Given the description of an element on the screen output the (x, y) to click on. 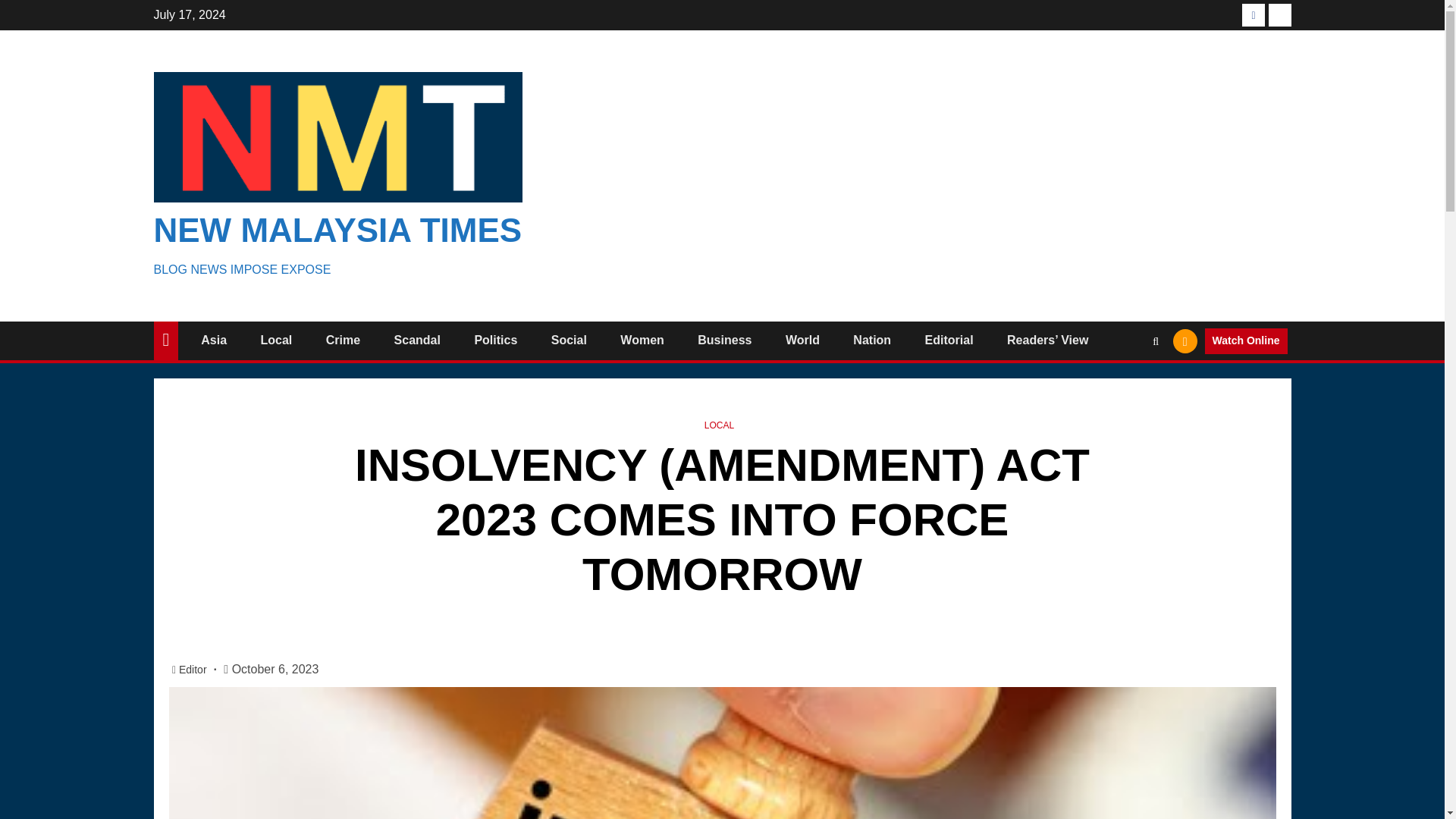
twitter (1279, 15)
LOCAL (718, 425)
World (802, 339)
Business (724, 339)
Search (1156, 340)
Watch Online (1246, 340)
Editorial (949, 339)
NEW MALAYSIA TIMES (336, 229)
Scandal (417, 339)
Nation (872, 339)
Women (641, 339)
Local (276, 339)
facebook (1253, 15)
Search (1125, 386)
Crime (342, 339)
